Given the description of an element on the screen output the (x, y) to click on. 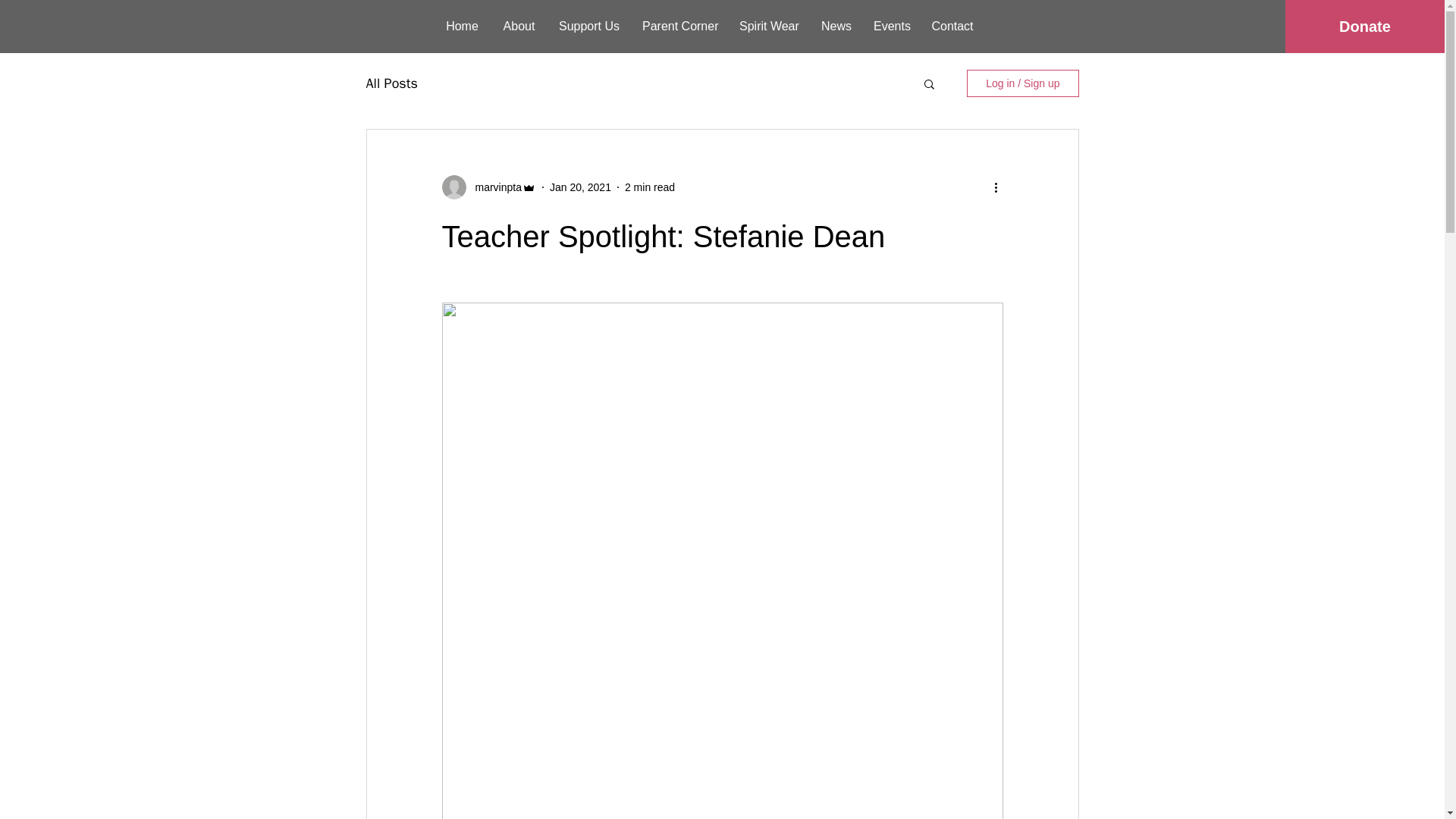
Events (890, 26)
About (518, 26)
2 min read (649, 186)
Spirit Wear (768, 26)
marvinpta (493, 186)
Contact (952, 26)
Parent Corner (679, 26)
Support Us (588, 26)
All Posts (390, 83)
Home (461, 26)
News (835, 26)
Jan 20, 2021 (580, 186)
